Given the description of an element on the screen output the (x, y) to click on. 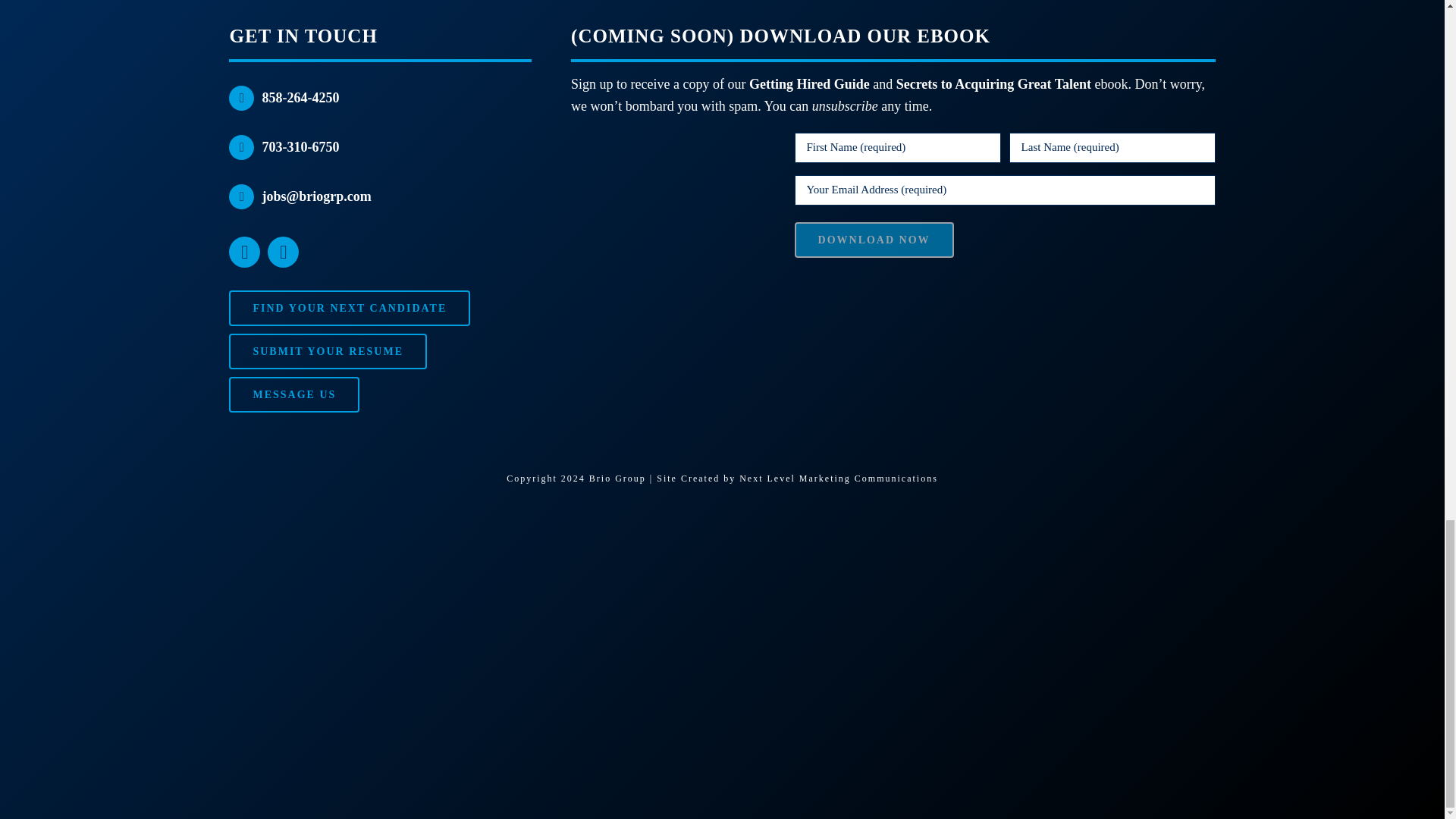
Ebooks-for-download (669, 214)
Email (240, 196)
Facebook (282, 251)
Download Now (873, 239)
858-264-4250 (300, 97)
LinkedIn (244, 251)
Phone (240, 147)
FIND YOUR NEXT CANDIDATE (349, 307)
Brio-Since 2010 (721, 619)
Phone (240, 97)
